Given the description of an element on the screen output the (x, y) to click on. 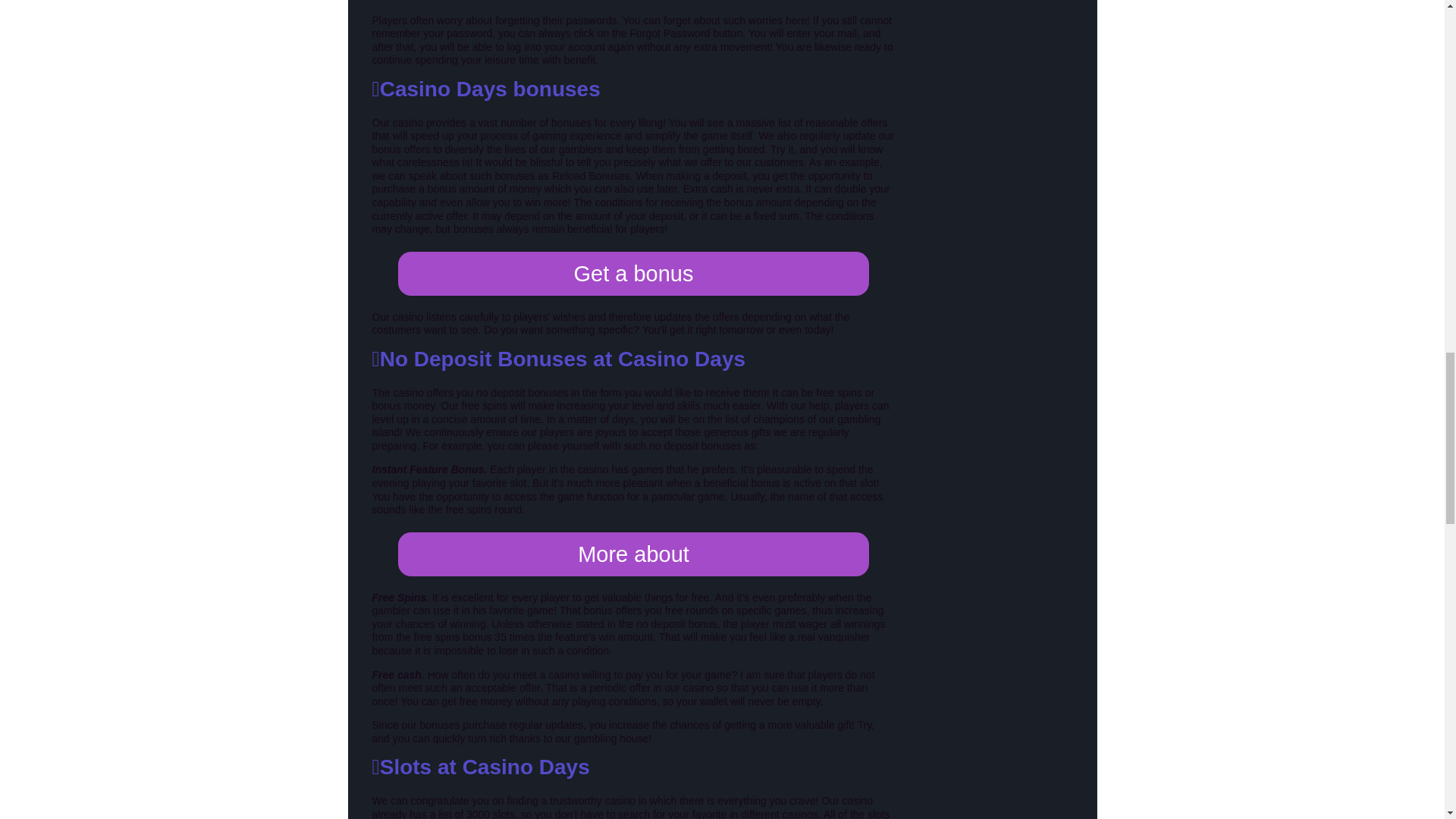
Get a bonus (633, 273)
